Given the description of an element on the screen output the (x, y) to click on. 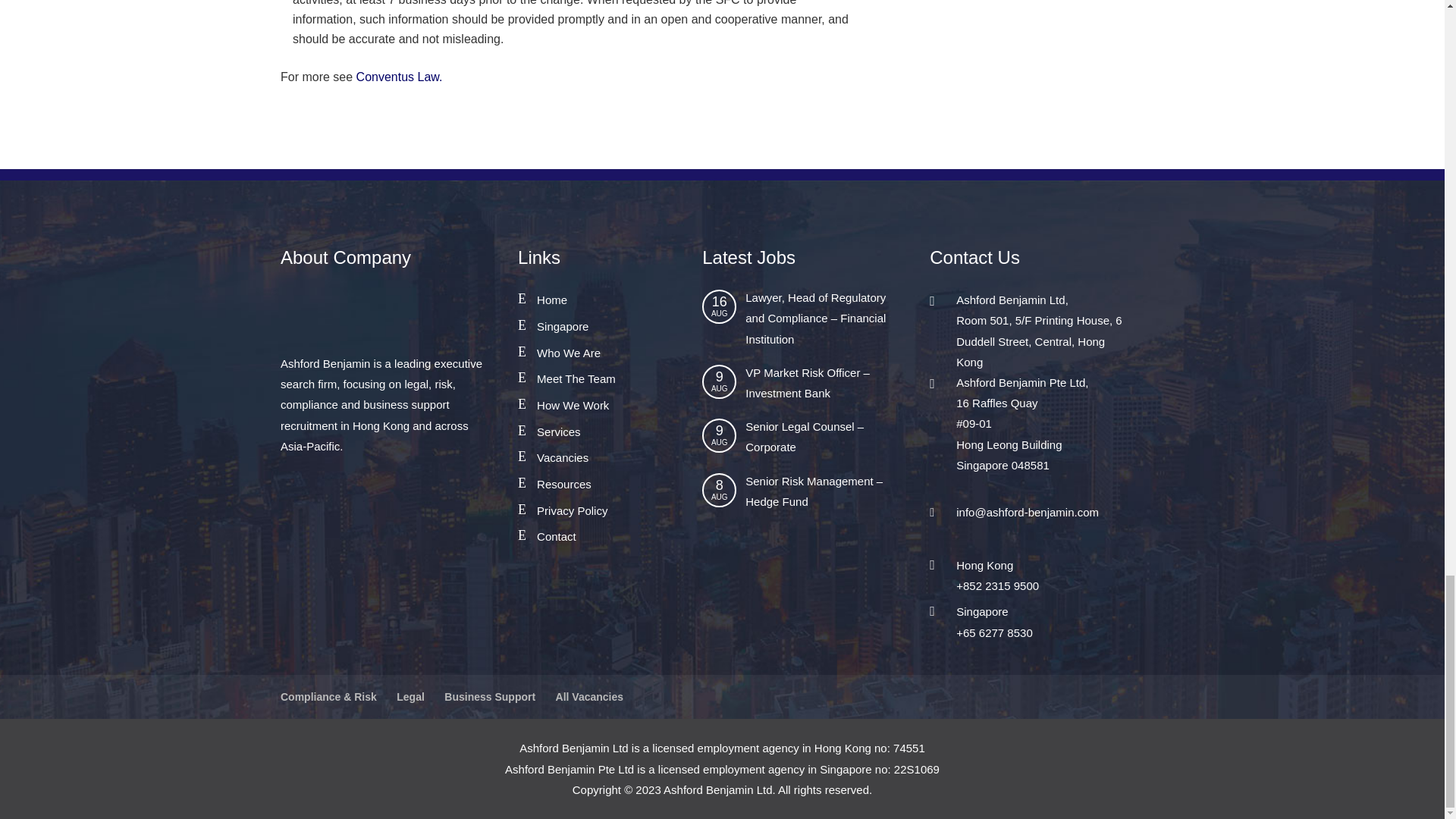
Contact (556, 535)
Meet The Team (576, 378)
 Conventus Law. (397, 76)
Resources (564, 483)
Services (558, 431)
How We Work (572, 404)
Who We Are (568, 352)
Singapore (562, 326)
Privacy Policy (572, 510)
Home (552, 299)
